Given the description of an element on the screen output the (x, y) to click on. 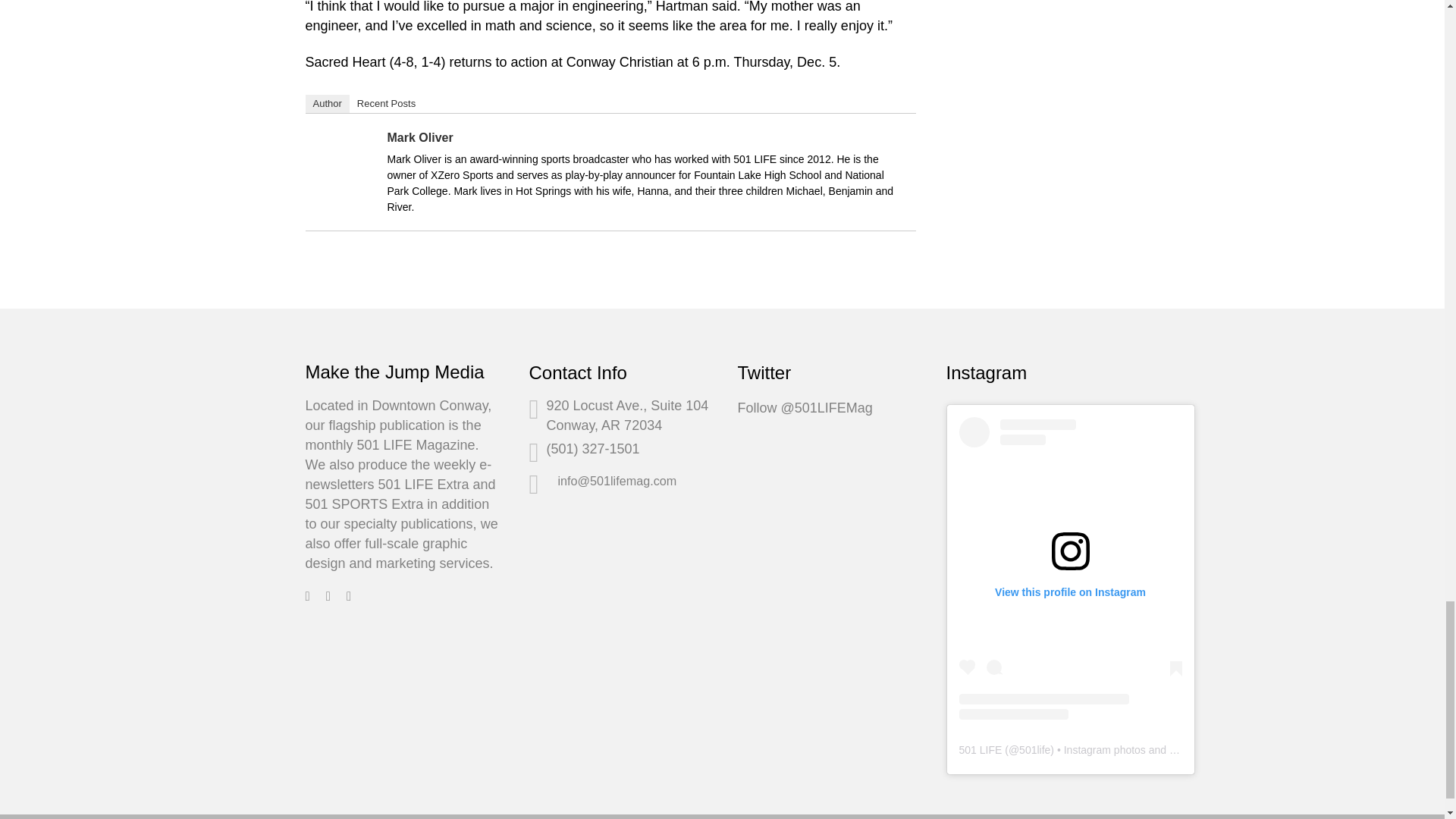
Mark Oliver (344, 192)
